Given the description of an element on the screen output the (x, y) to click on. 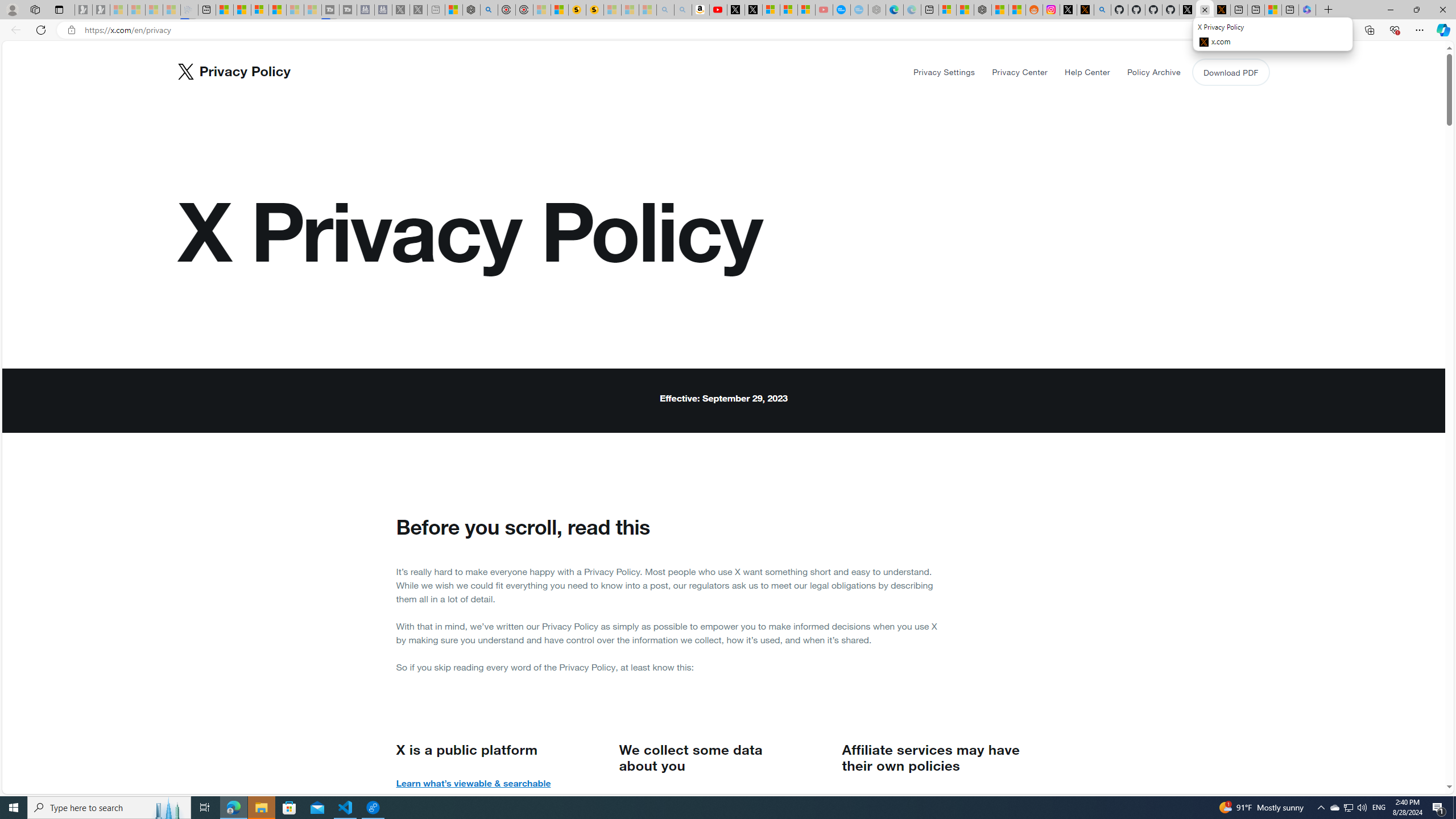
poe - Search (489, 9)
Privacy Settings (943, 71)
Newsletter Sign Up - Sleeping (101, 9)
Microsoft account | Microsoft Account Privacy Settings (946, 9)
X Privacy Policy (1221, 9)
